Given the description of an element on the screen output the (x, y) to click on. 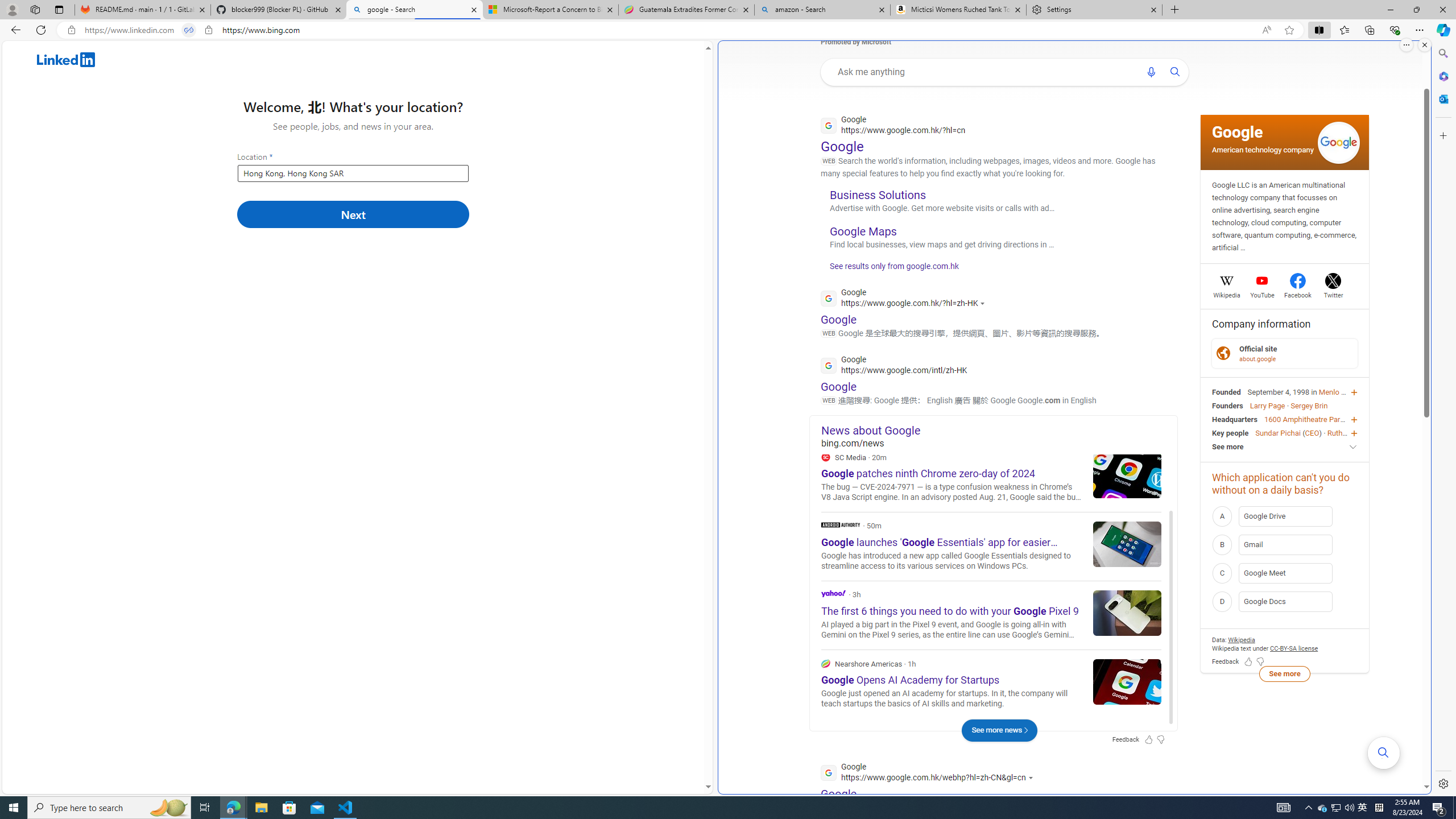
Google Maps (862, 231)
Search more (1383, 753)
Key people (1230, 432)
CC-BY-SA license (1293, 648)
Search using voice (1151, 71)
See more news (999, 730)
